Given the description of an element on the screen output the (x, y) to click on. 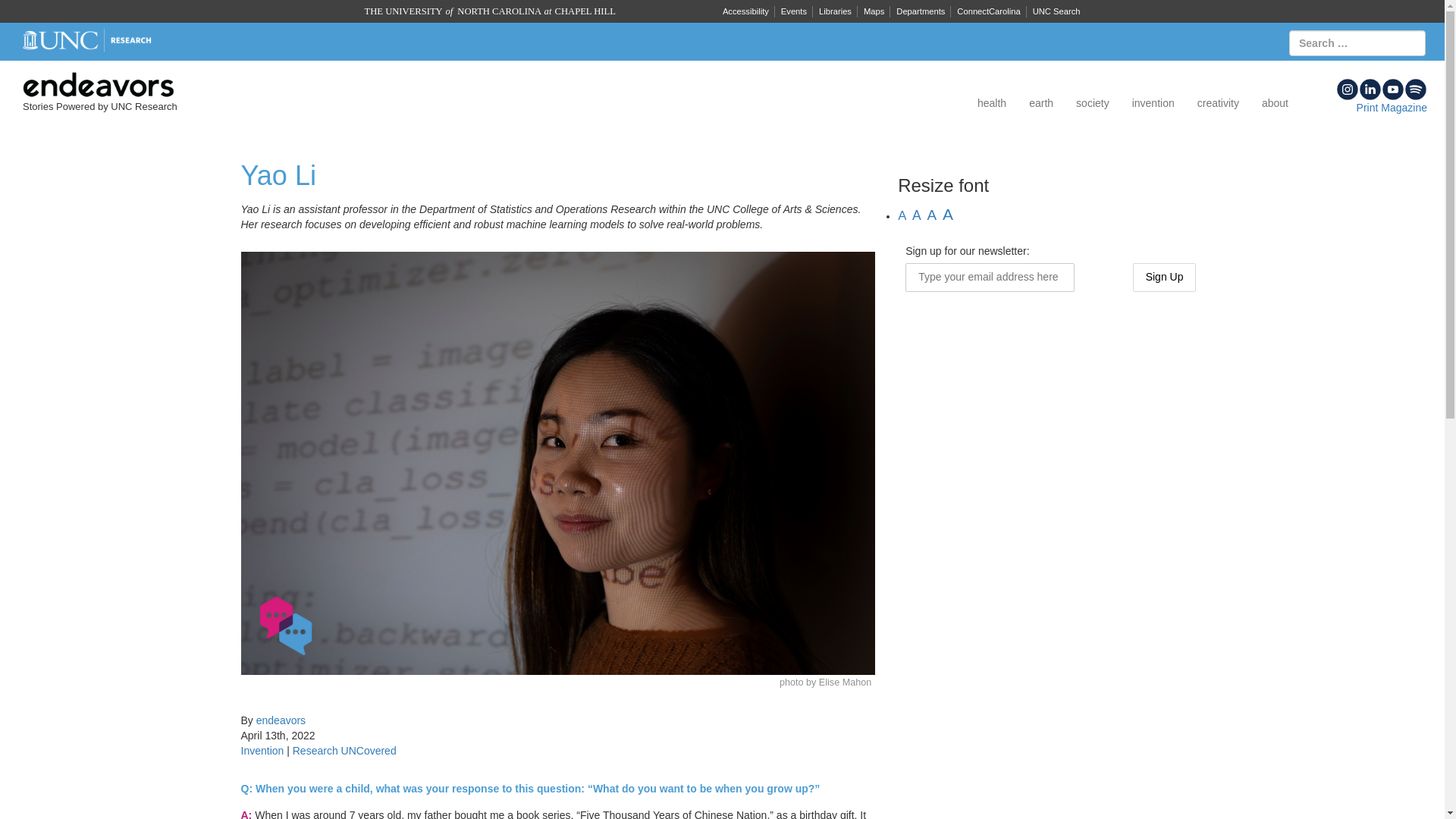
Events (793, 11)
earth (1040, 103)
Search for: (1356, 43)
health (991, 103)
Print Magazine (1391, 107)
creativity (1218, 103)
health (991, 103)
Sign Up (1164, 276)
Departments (919, 11)
creativity (1218, 103)
THE UNIVERSITY of NORTH CAROLINA at CHAPEL HILL (489, 11)
invention (1153, 103)
about (1275, 103)
